Given the description of an element on the screen output the (x, y) to click on. 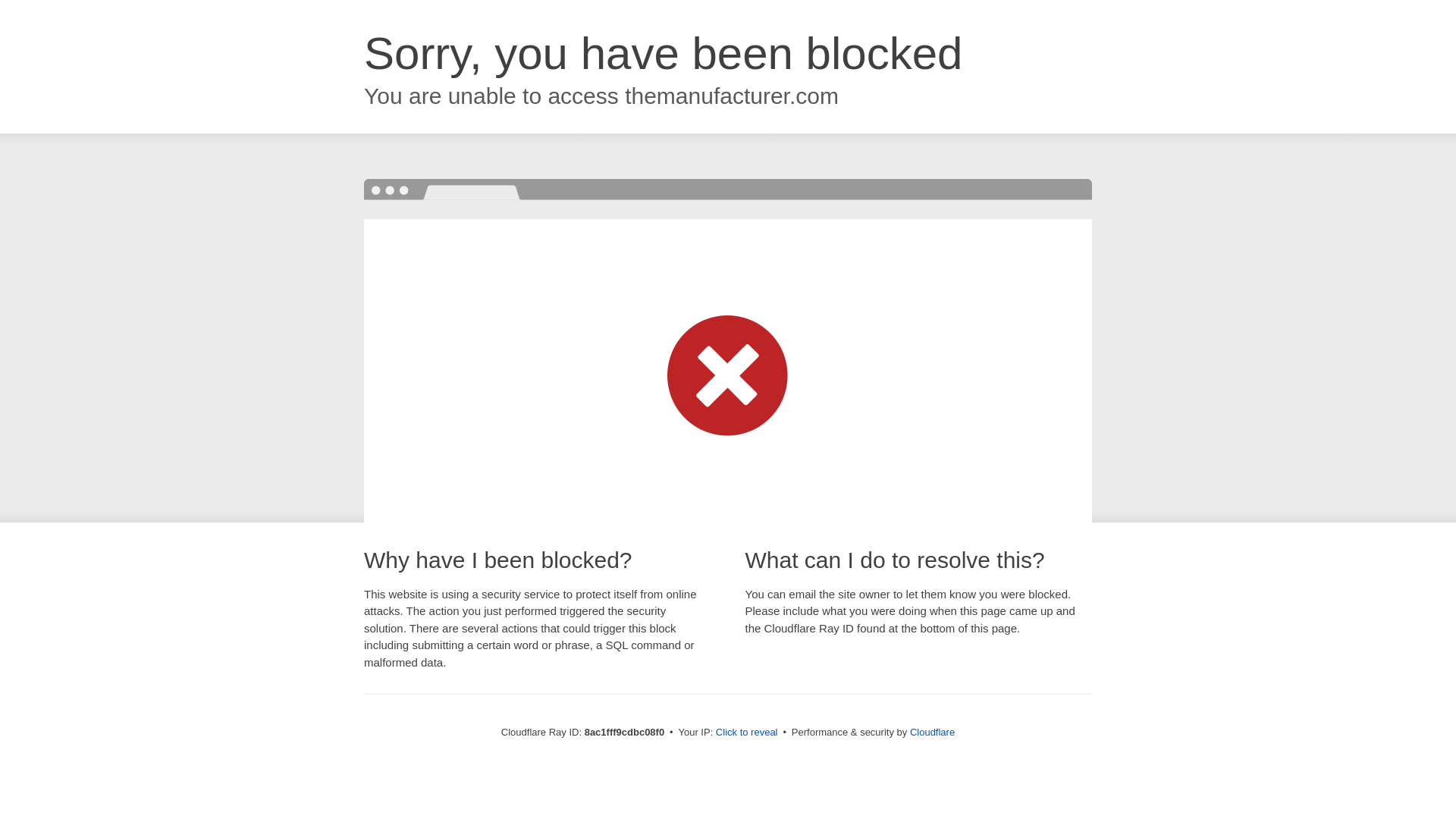
Cloudflare (932, 731)
Click to reveal (746, 732)
